Given the description of an element on the screen output the (x, y) to click on. 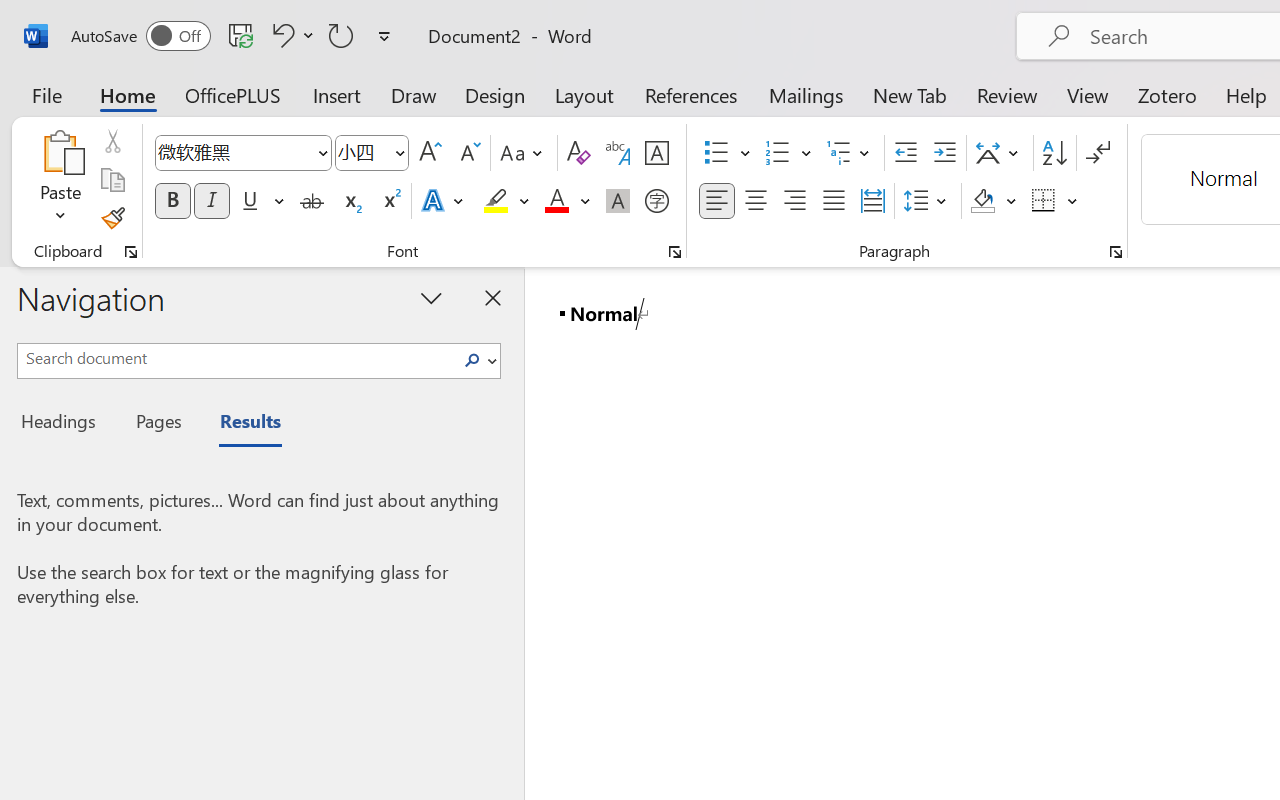
Paragraph... (1115, 252)
Paste (60, 179)
Strikethrough (312, 201)
Cut (112, 141)
Insert (337, 94)
Shading RGB(0, 0, 0) (982, 201)
Design (495, 94)
Center (756, 201)
Font Size (372, 153)
Italic (212, 201)
Home (127, 94)
Clear Formatting (578, 153)
File Tab (46, 94)
